Given the description of an element on the screen output the (x, y) to click on. 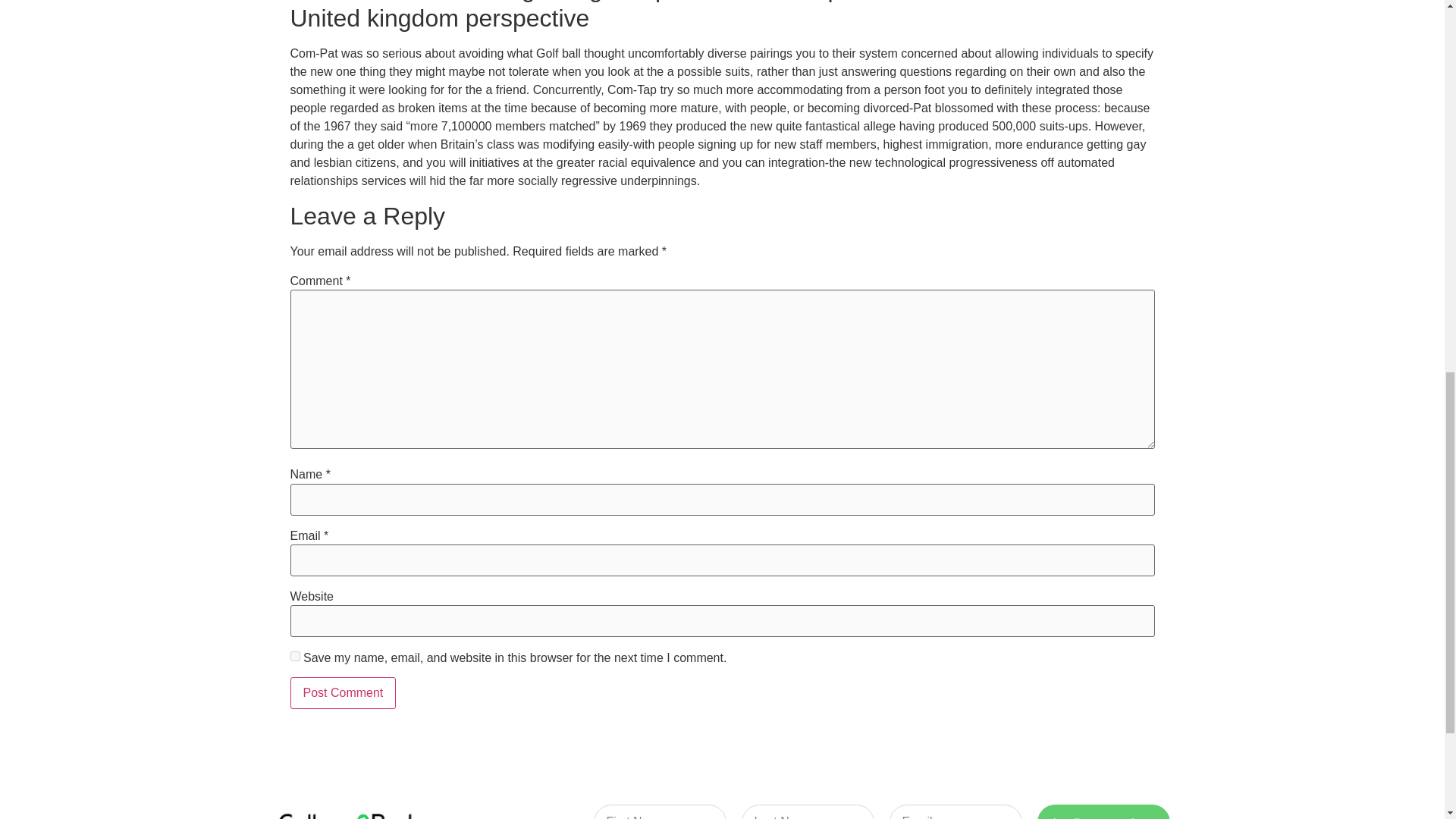
Post Comment (342, 693)
yes (294, 655)
Subscribe For Updates (1103, 811)
Post Comment (342, 693)
